Given the description of an element on the screen output the (x, y) to click on. 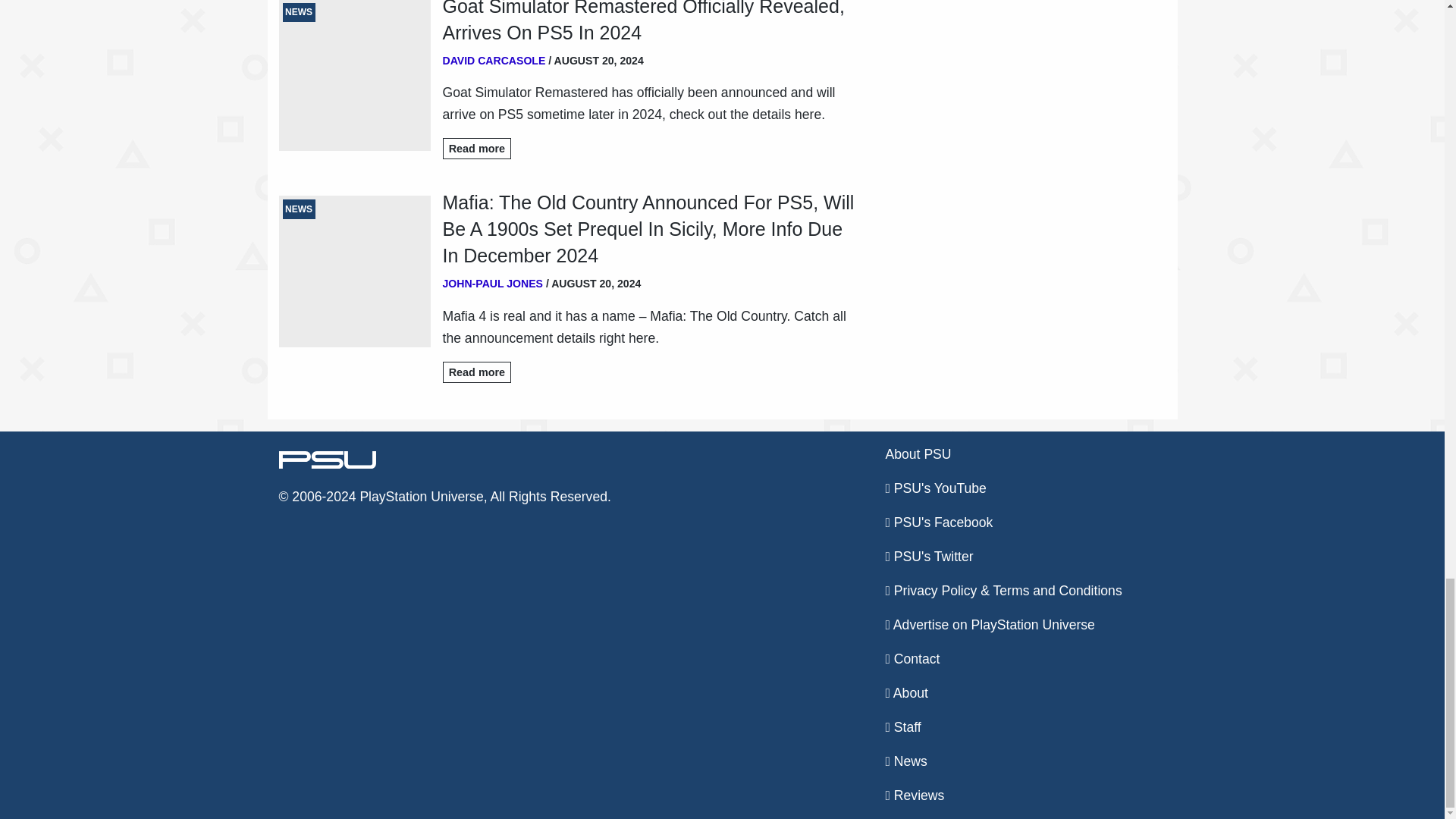
DAVID CARCASOLE (494, 60)
NEWS (354, 75)
